Given the description of an element on the screen output the (x, y) to click on. 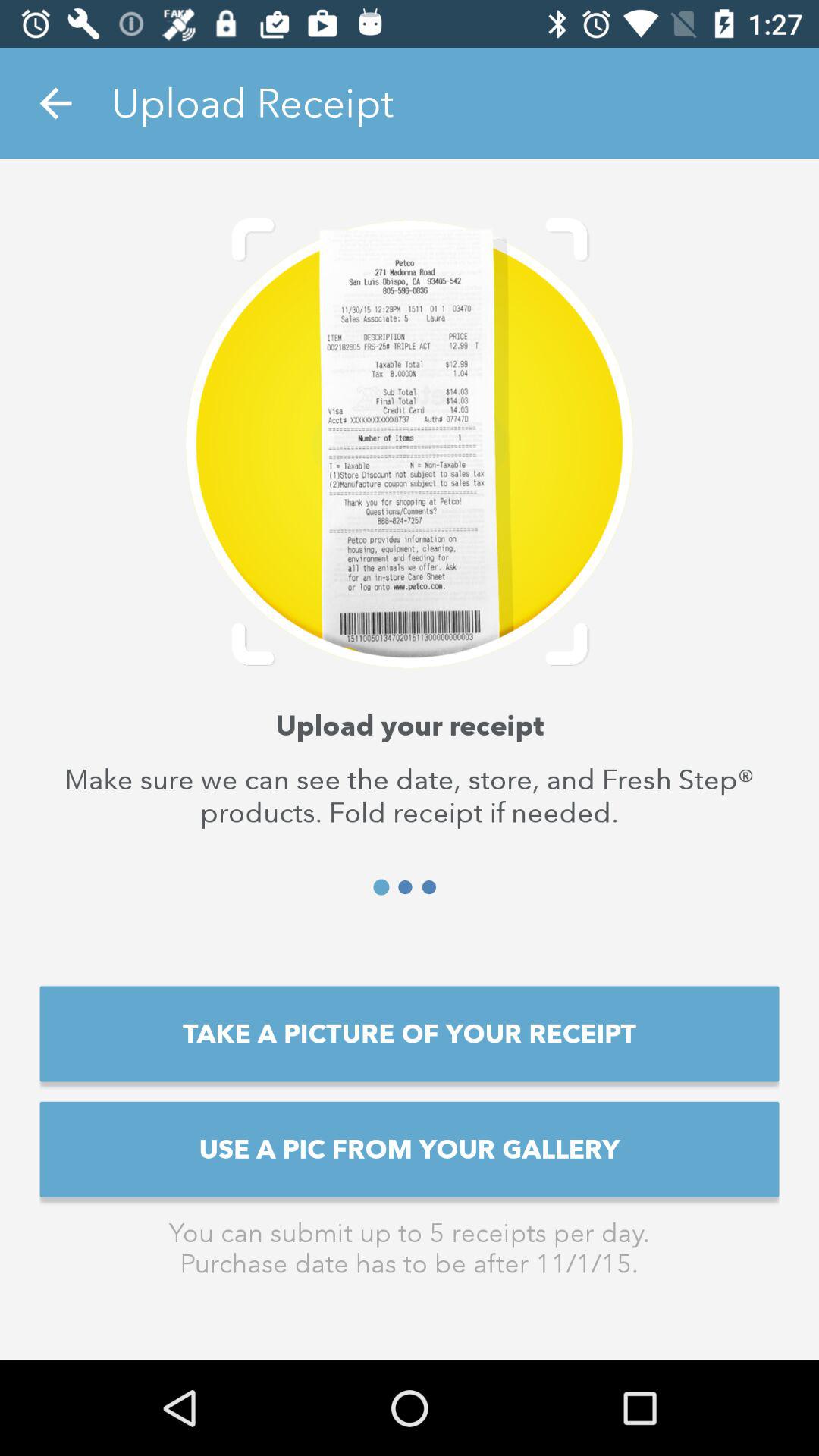
launch the use a pic icon (409, 1149)
